Given the description of an element on the screen output the (x, y) to click on. 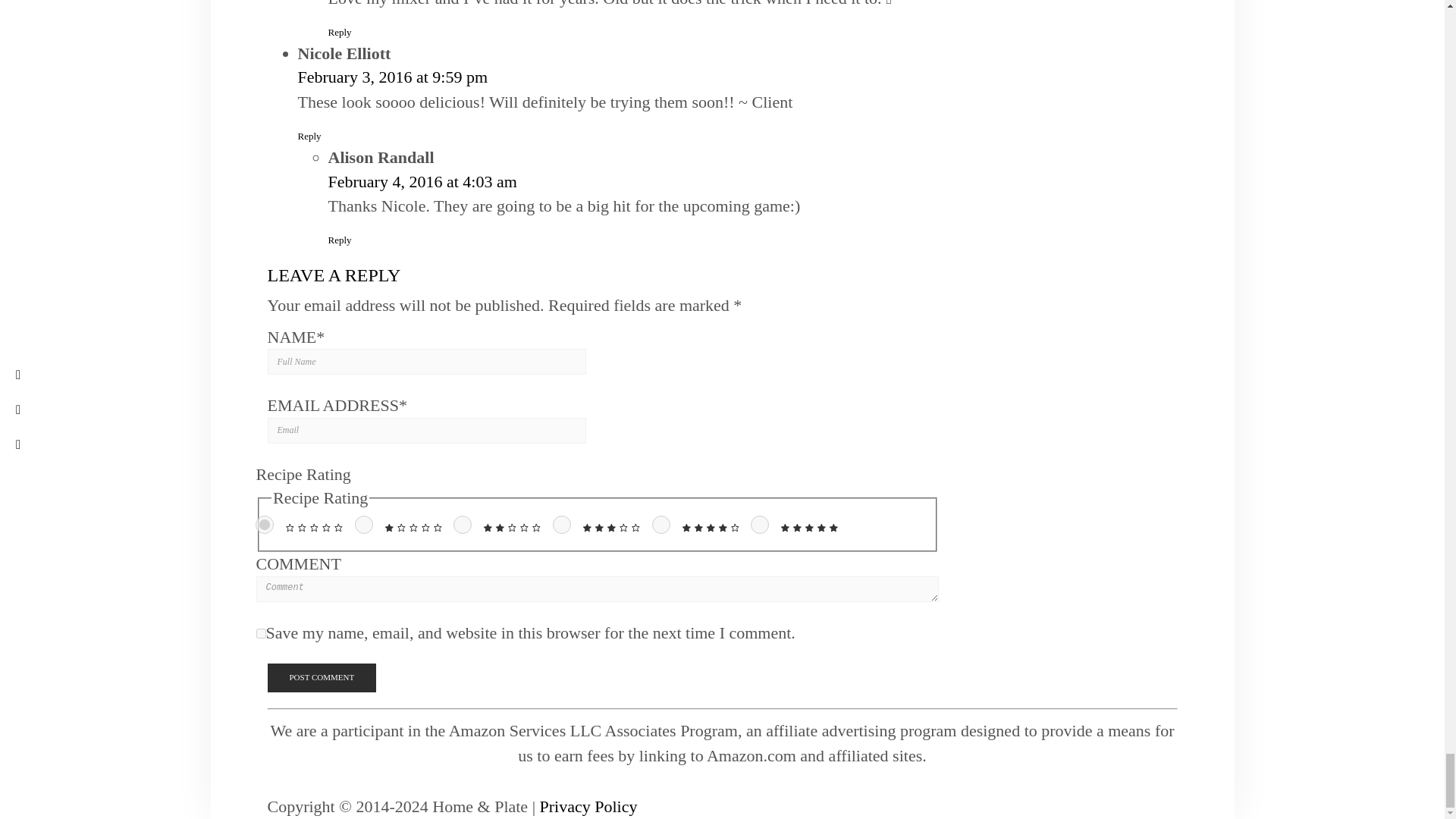
yes (261, 633)
1 (363, 524)
Post Comment (320, 677)
0 (264, 524)
3 (561, 524)
5 (759, 524)
2 (461, 524)
4 (660, 524)
